Given the description of an element on the screen output the (x, y) to click on. 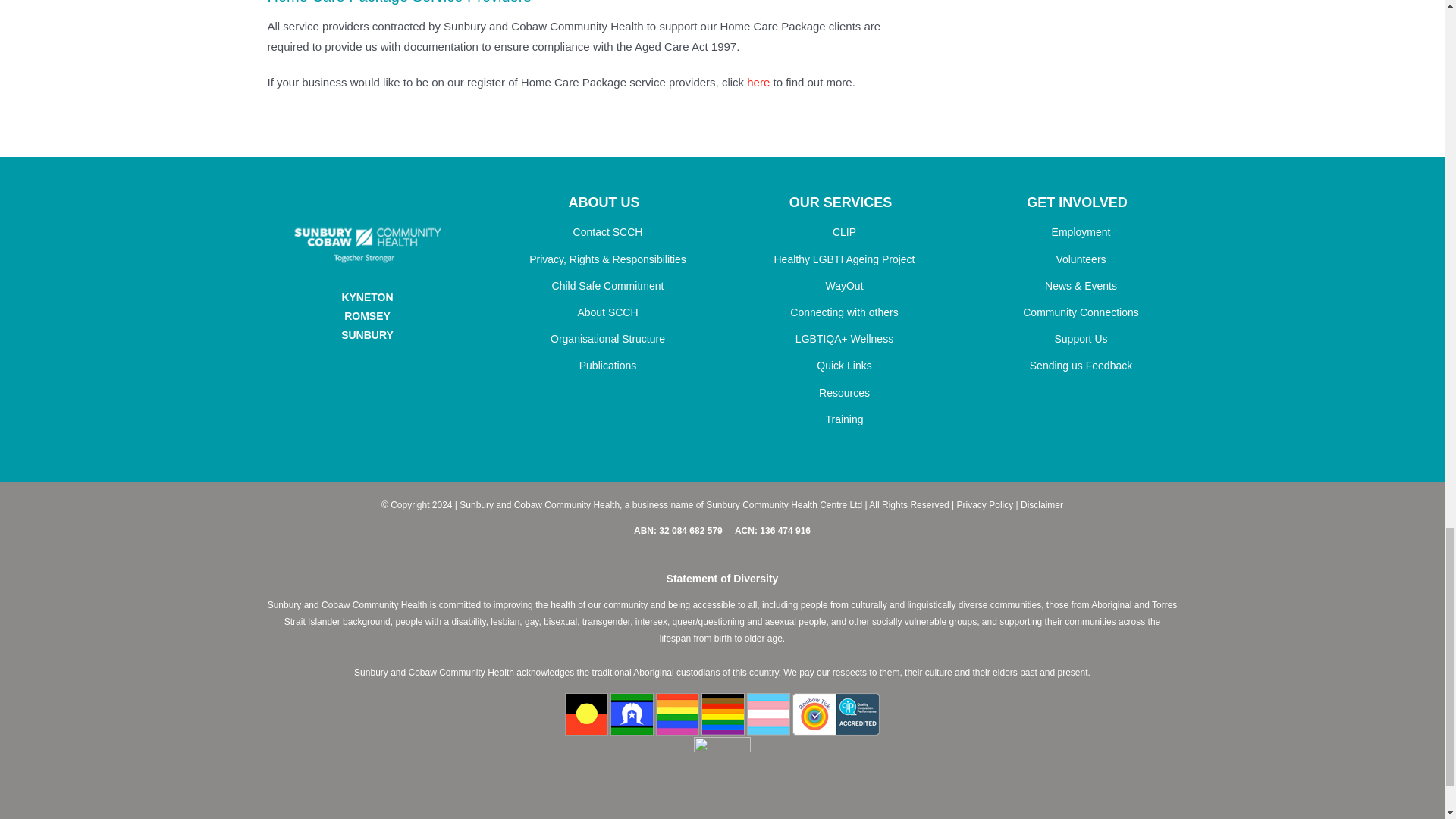
Sunbury and Cobaw Community Health (366, 245)
